Given the description of an element on the screen output the (x, y) to click on. 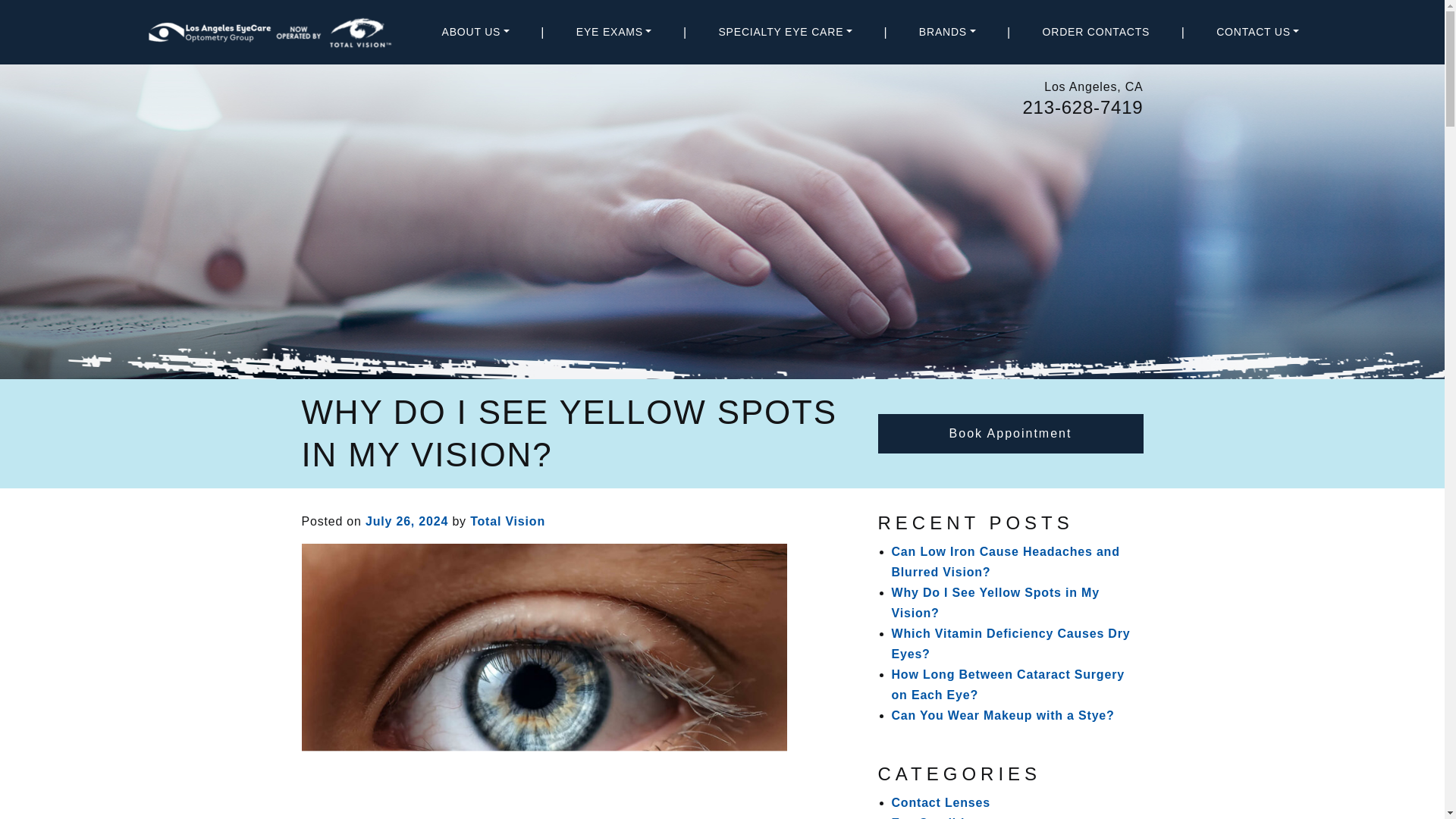
Specialty Eye Care (784, 31)
Book Appointment (1009, 433)
EYE EXAMS (614, 31)
Eye Exams (614, 31)
BRANDS (946, 31)
CONTACT US (1256, 31)
July 26, 2024 (406, 521)
ABOUT US (475, 31)
213-628-7419 (1082, 107)
ORDER CONTACTS (1096, 31)
